Given the description of an element on the screen output the (x, y) to click on. 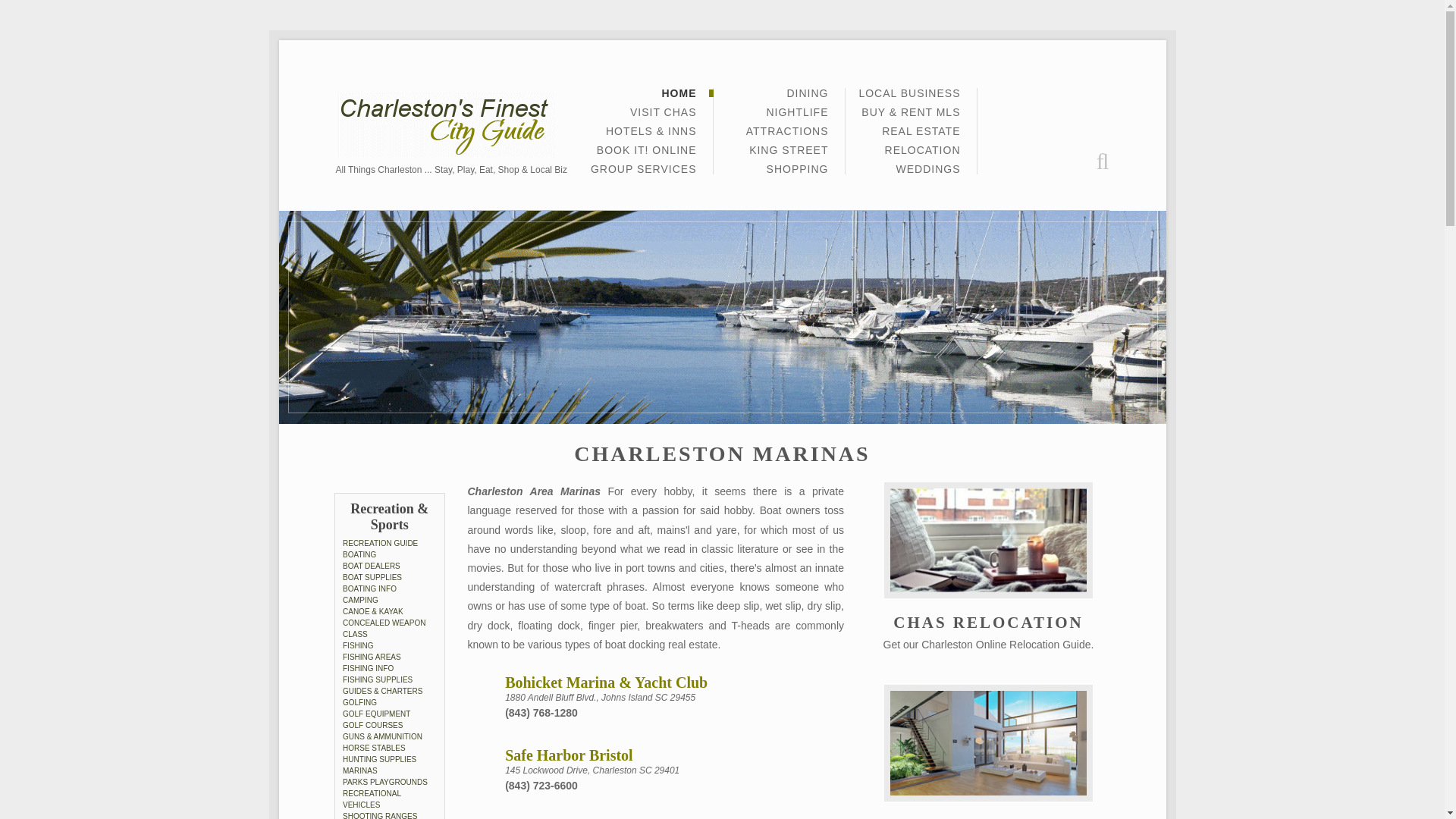
SHOPPING (797, 168)
VISIT CHAS (663, 116)
REAL ESTATE (920, 135)
LOCAL BUSINESS (909, 97)
ATTRACTIONS (786, 135)
BOOK IT! ONLINE (646, 153)
KING STREET (788, 153)
GROUP SERVICES (644, 168)
NIGHTLIFE (796, 116)
HOME (678, 97)
DINING (807, 97)
